Given the description of an element on the screen output the (x, y) to click on. 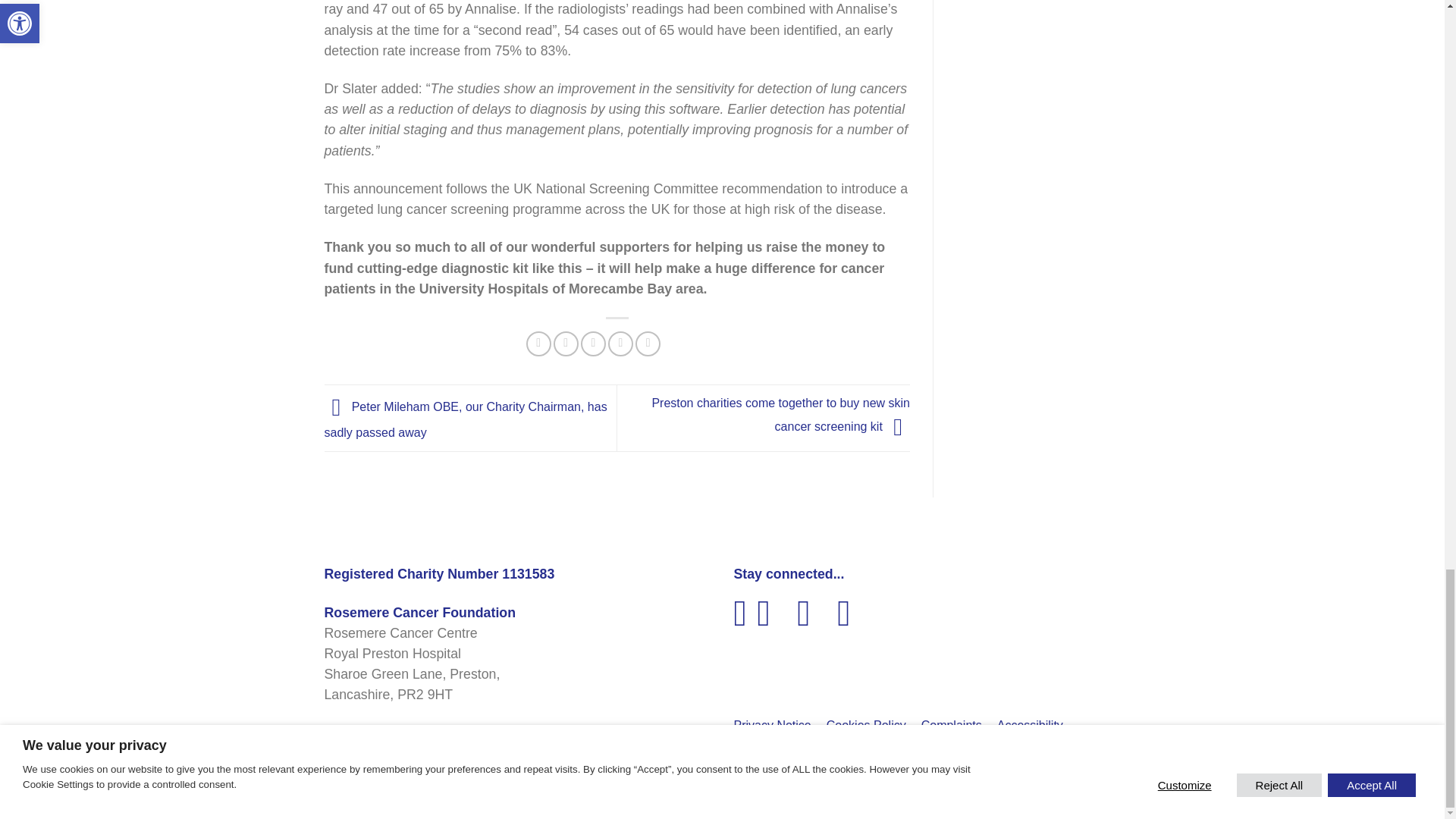
Share on Twitter (565, 343)
Share on LinkedIn (647, 343)
Pin on Pinterest (620, 343)
Email to a Friend (592, 343)
Share on Facebook (538, 343)
